Given the description of an element on the screen output the (x, y) to click on. 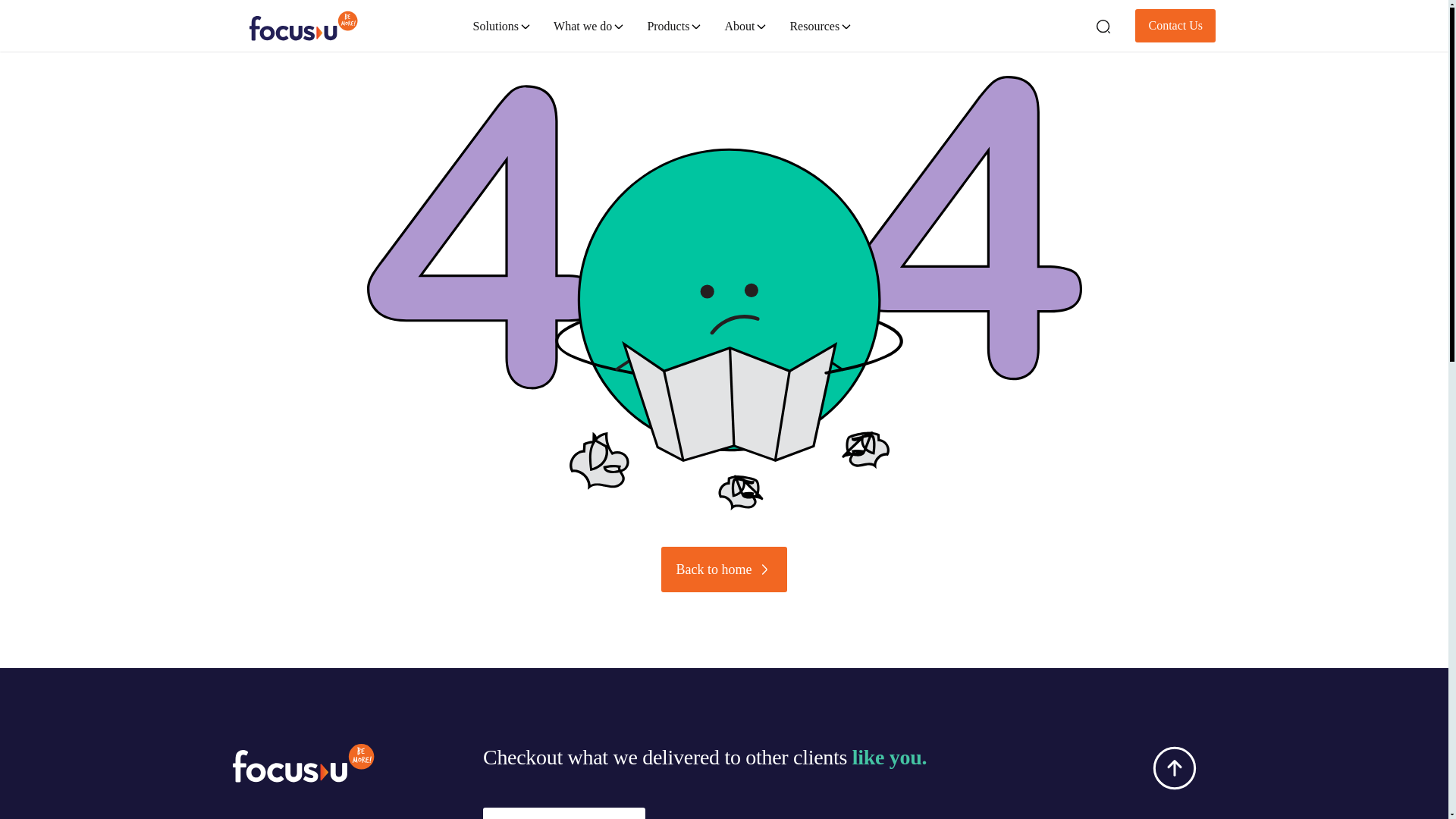
What we do (588, 6)
Focus U (255, 3)
Resources (819, 25)
About (744, 19)
Products (673, 16)
